Given the description of an element on the screen output the (x, y) to click on. 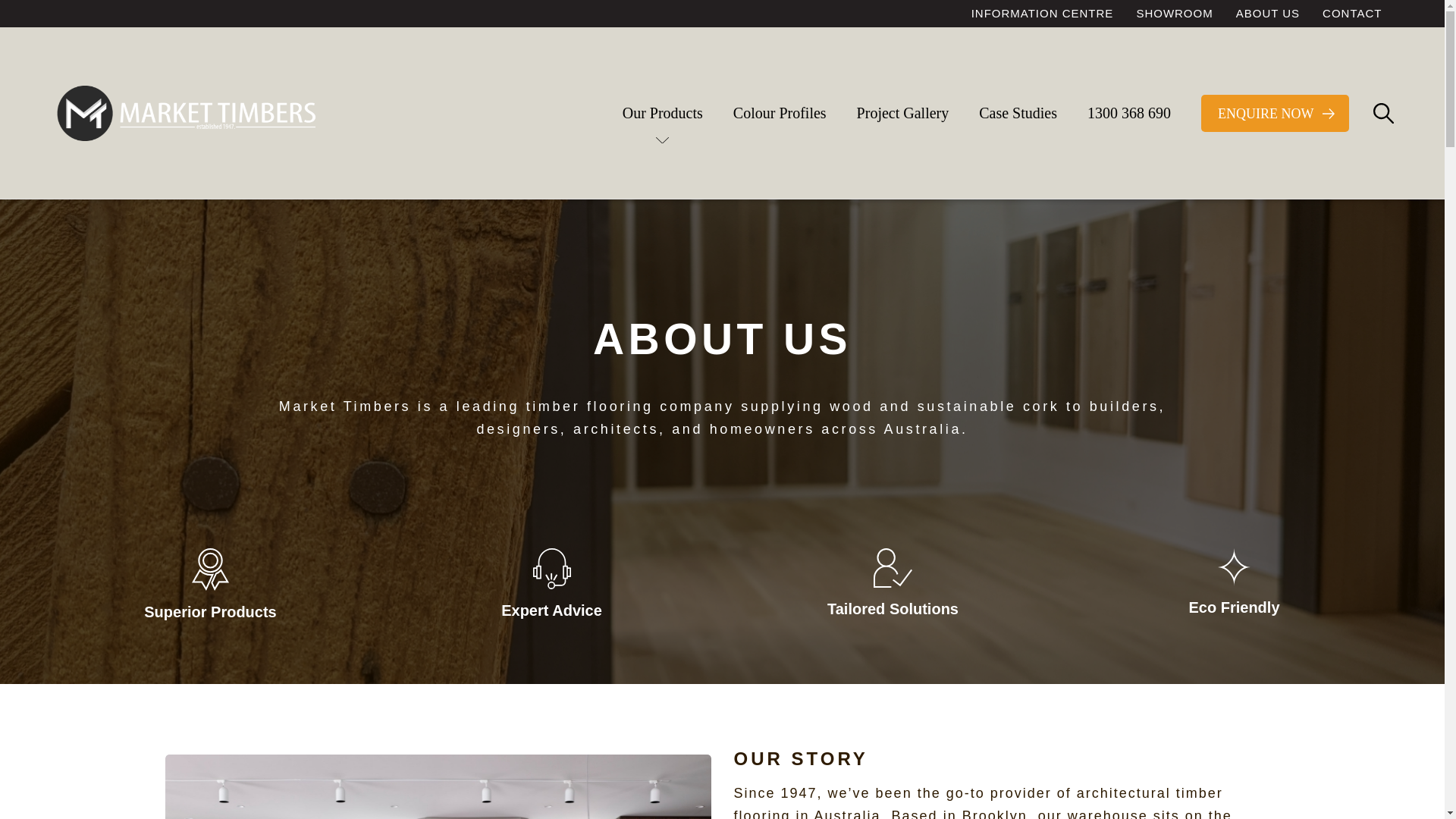
ABOUT US Element type: text (1267, 13)
CONTACT Element type: text (1352, 13)
Our Products Element type: text (662, 112)
Project Gallery Element type: text (902, 112)
1300 368 690 Element type: text (1129, 112)
Case Studies Element type: text (1017, 112)
INFORMATION CENTRE Element type: text (1042, 13)
Colour Profiles Element type: text (779, 112)
ENQUIRE NOW Element type: text (1274, 112)
SHOWROOM Element type: text (1173, 13)
